Given the description of an element on the screen output the (x, y) to click on. 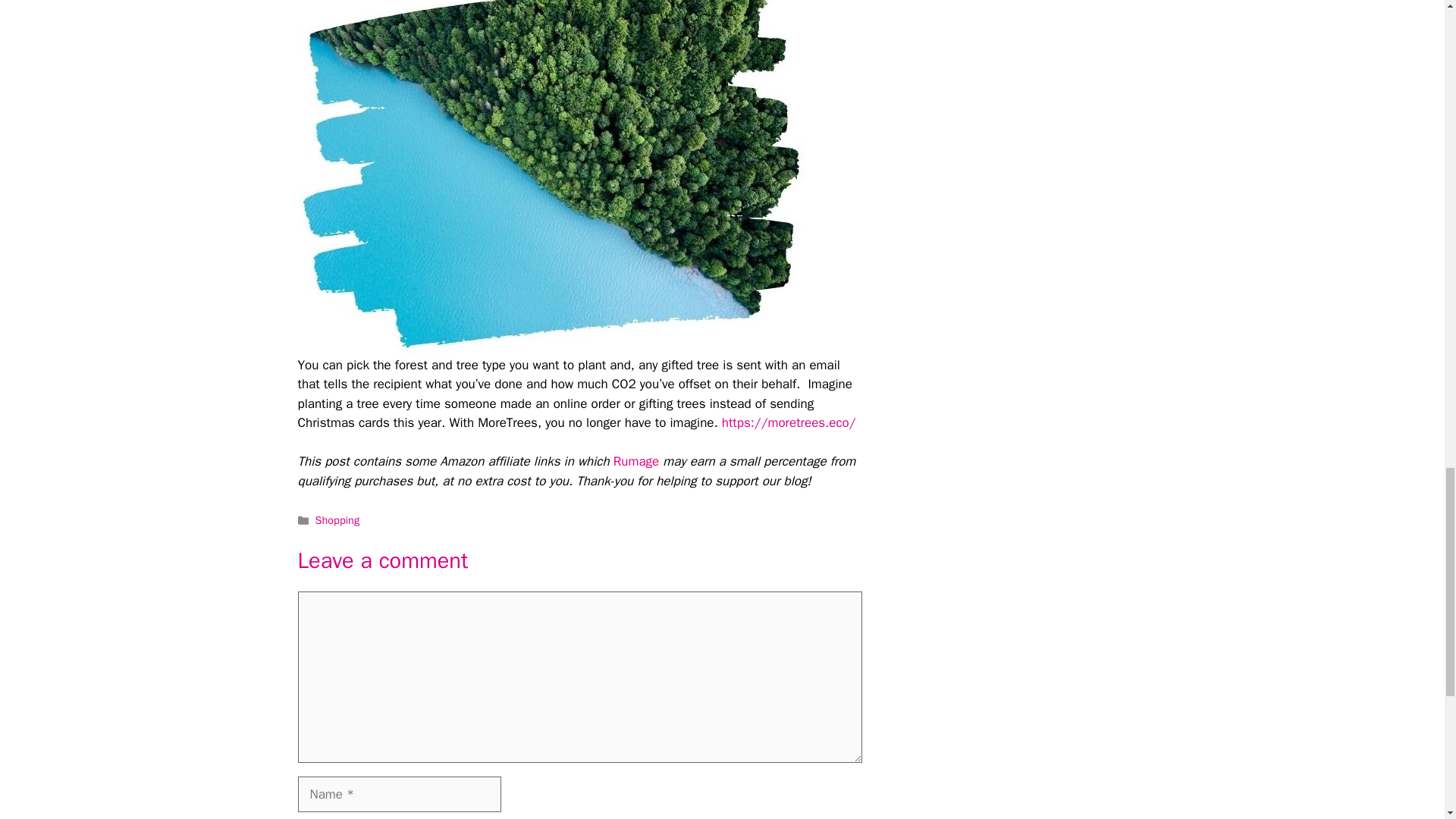
Shopping (337, 520)
Rumage (635, 461)
